Given the description of an element on the screen output the (x, y) to click on. 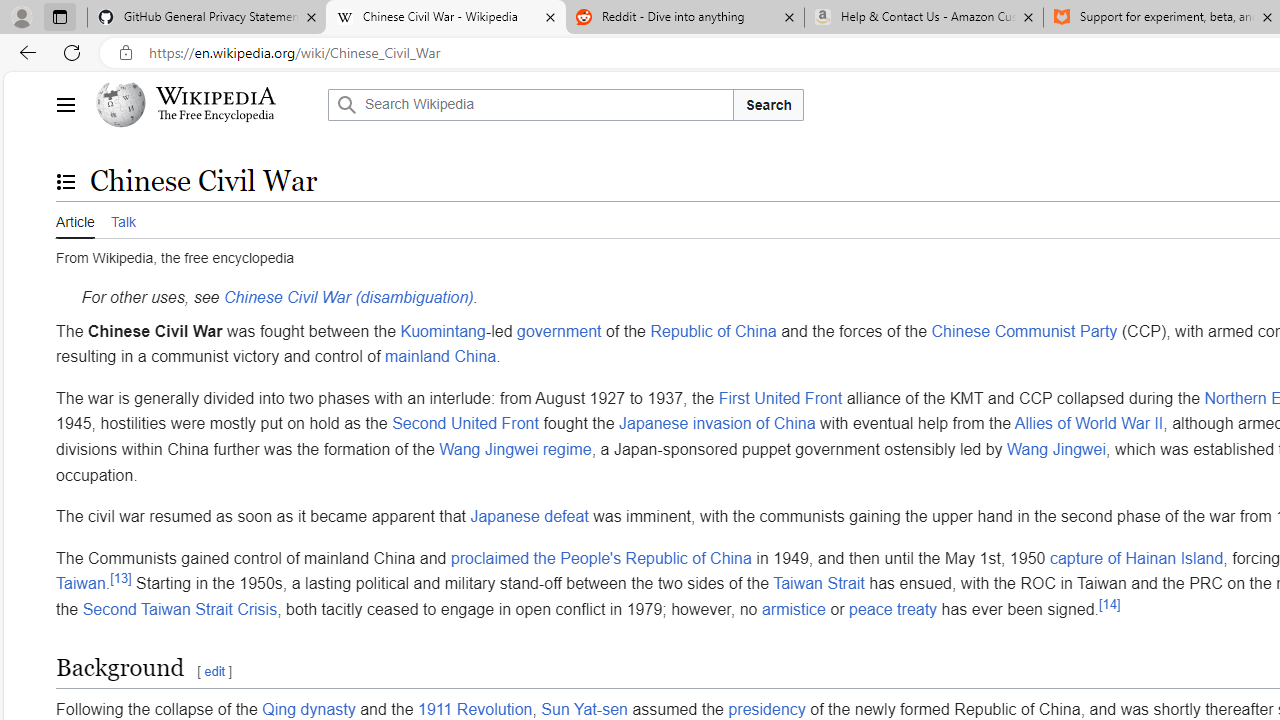
presidency (767, 708)
